Given the description of an element on the screen output the (x, y) to click on. 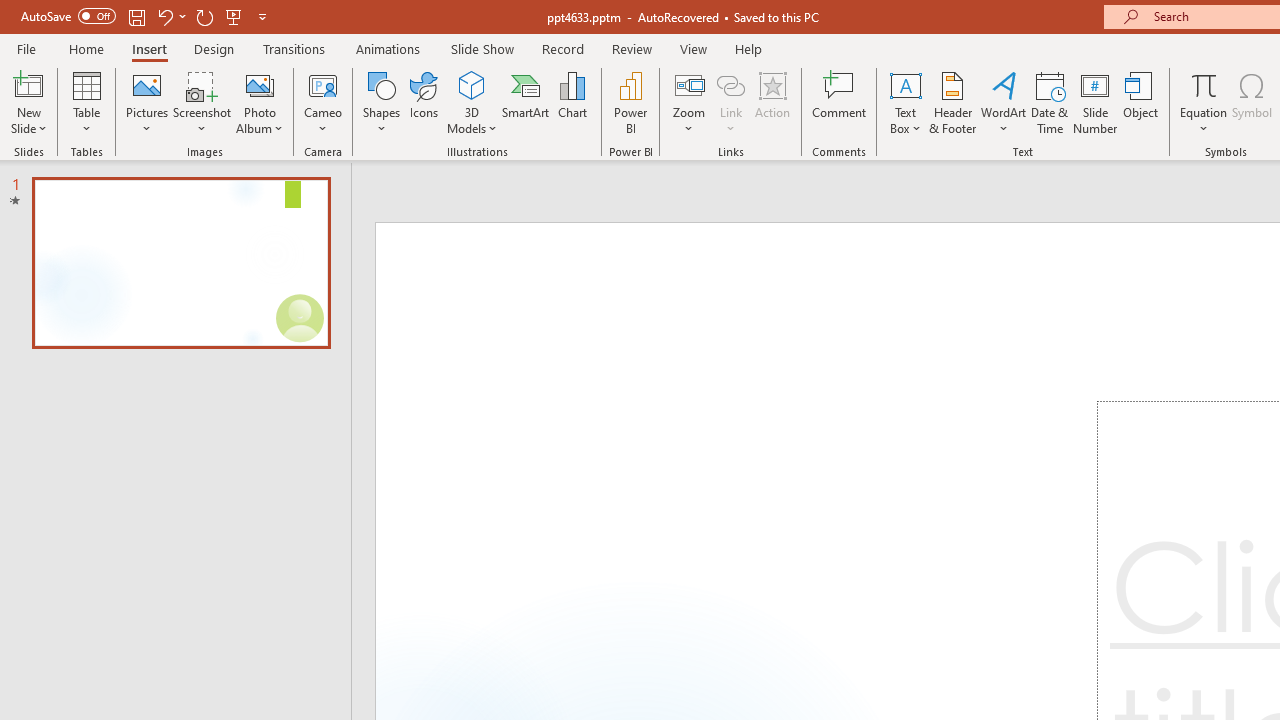
Equation (1203, 102)
3D Models (472, 84)
Screenshot (202, 102)
Comment (839, 102)
